Given the description of an element on the screen output the (x, y) to click on. 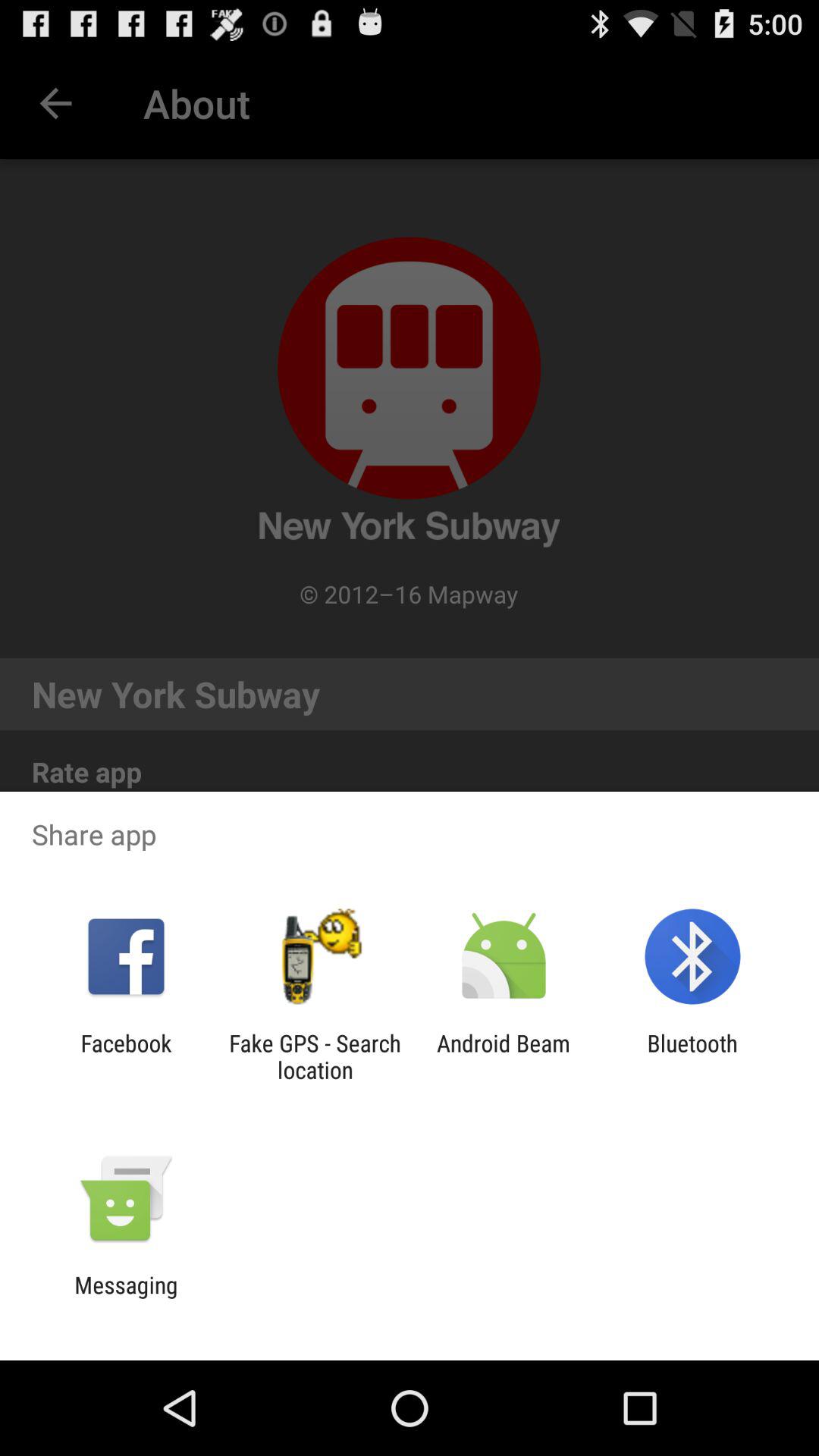
jump to bluetooth (692, 1056)
